Given the description of an element on the screen output the (x, y) to click on. 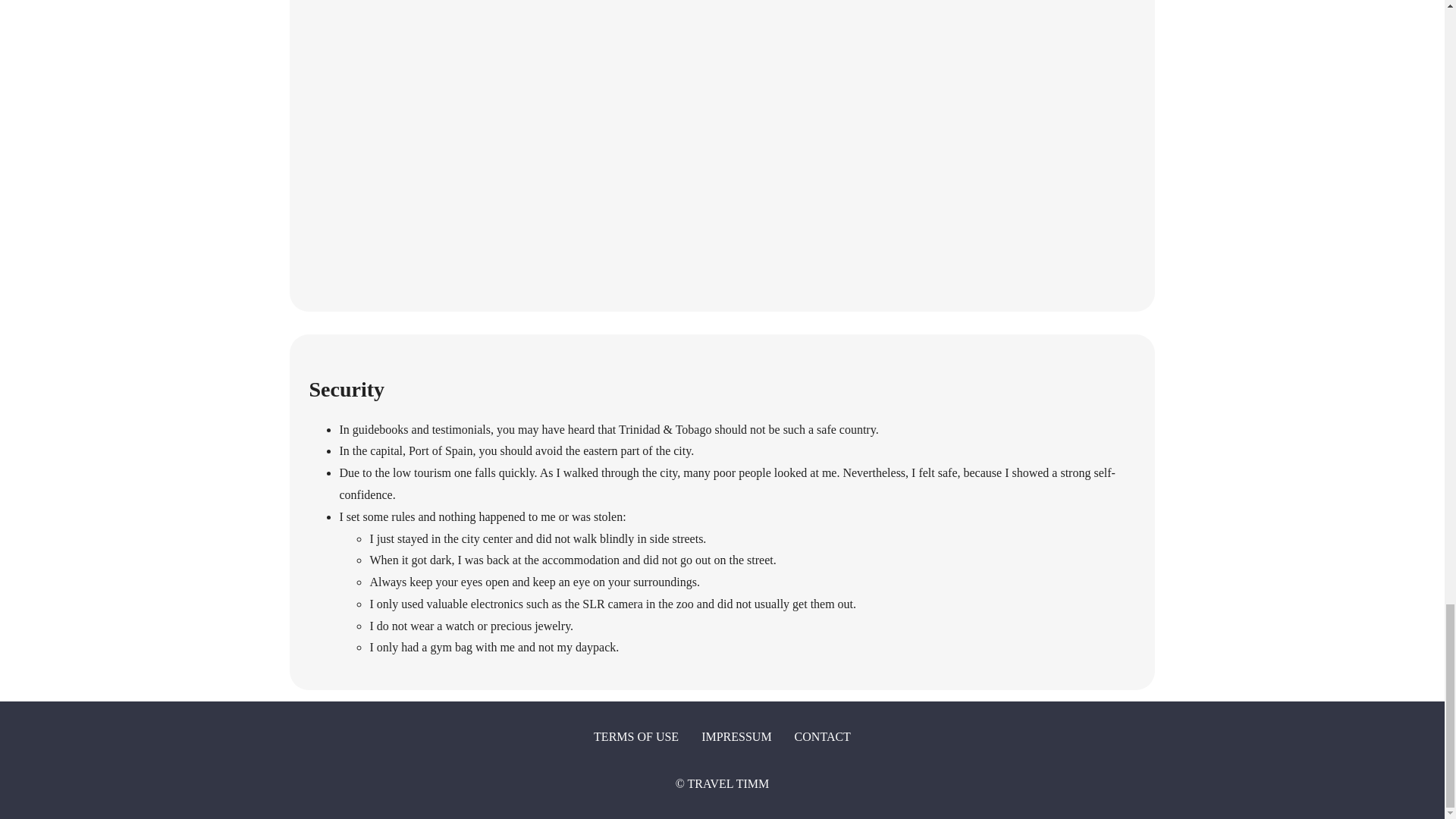
CONTACT (822, 737)
TERMS OF USE (636, 737)
IMPRESSUM (736, 737)
